Given the description of an element on the screen output the (x, y) to click on. 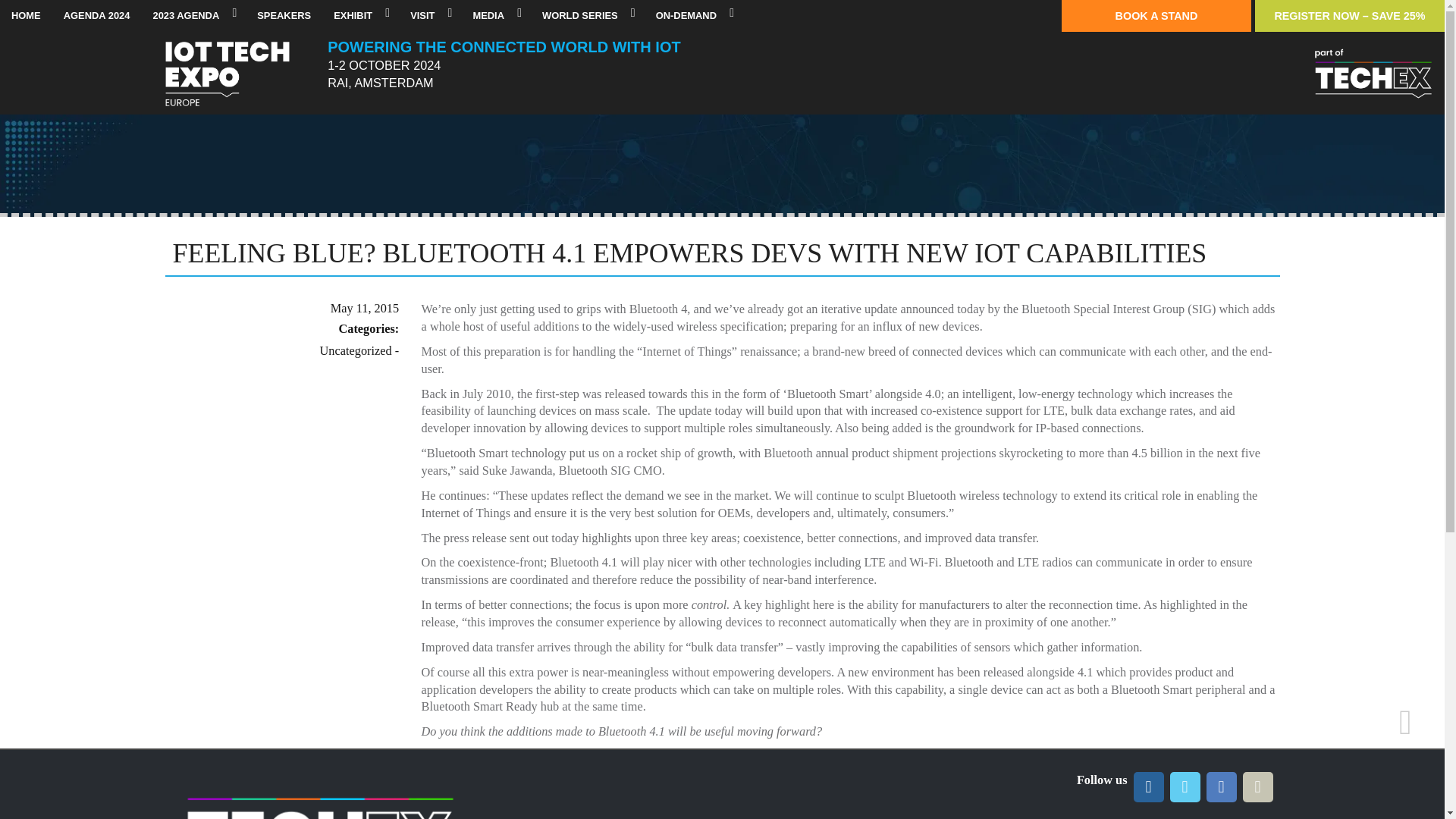
In association with (1372, 76)
LinkedIn (1147, 787)
HOME (26, 15)
Instagram (1256, 787)
Twitter (1184, 787)
Facebook (1220, 787)
IoT Tech Expo Europe (226, 76)
